Given the description of an element on the screen output the (x, y) to click on. 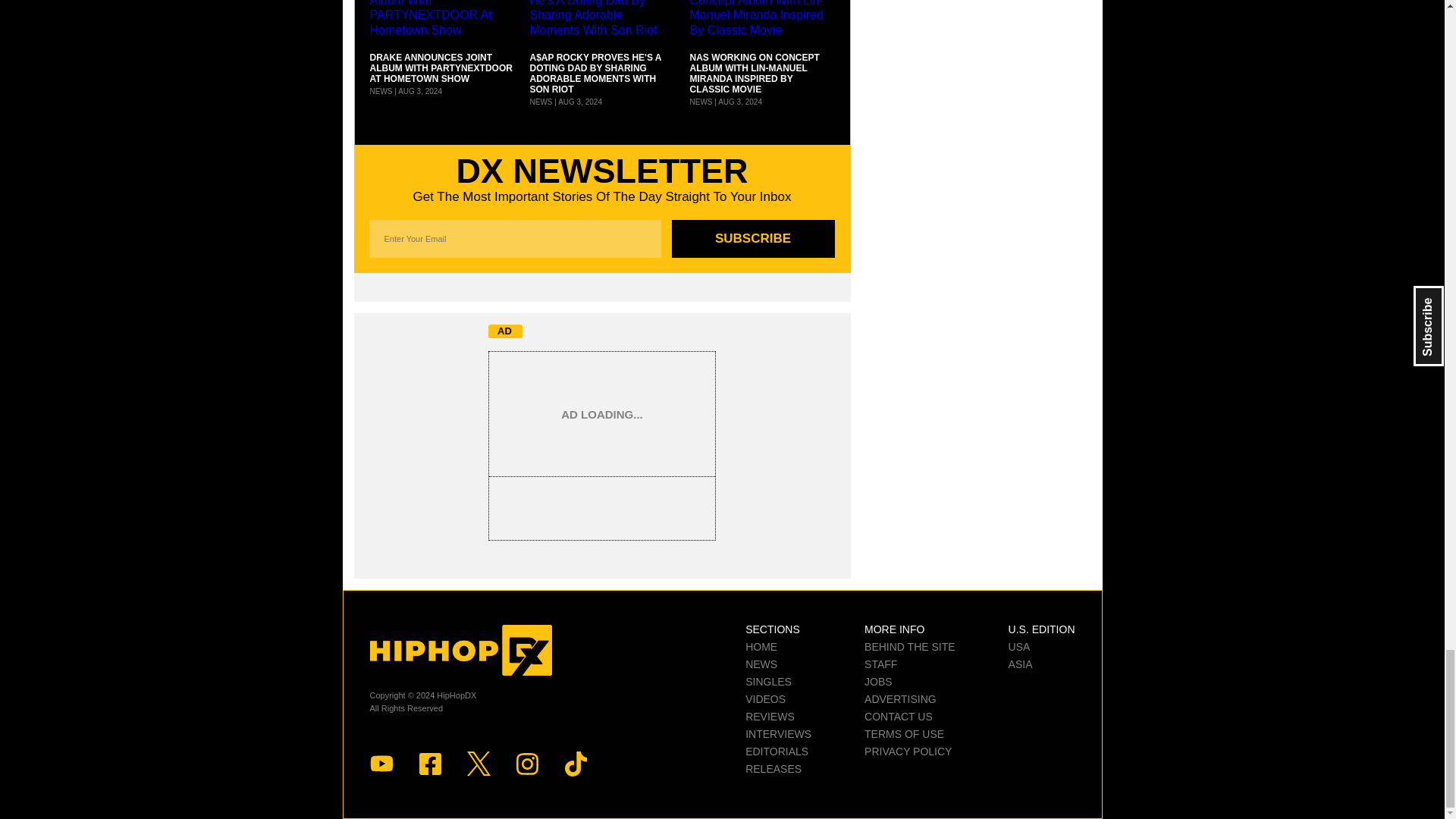
HipHopDX (460, 650)
